Given the description of an element on the screen output the (x, y) to click on. 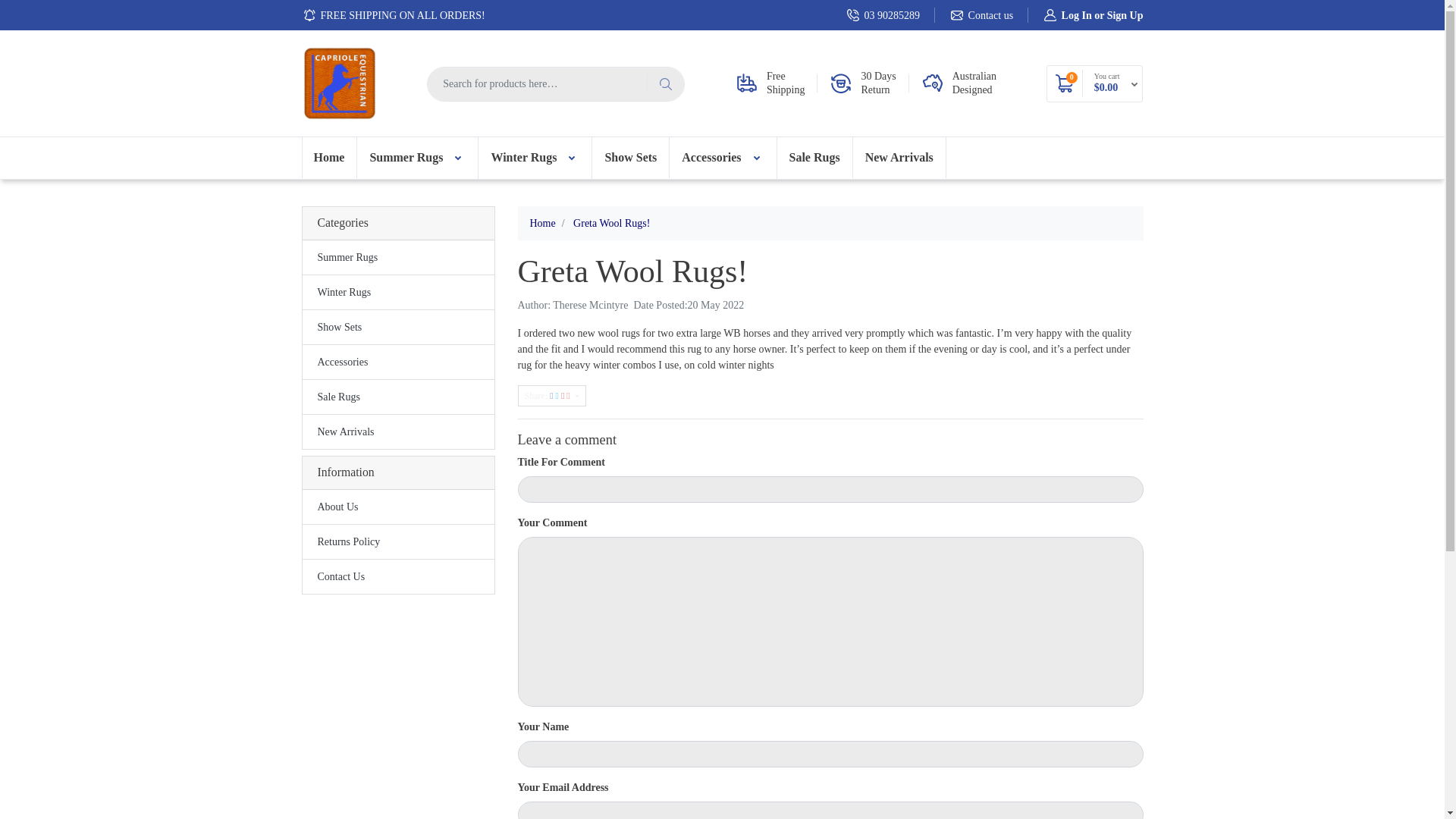
Log In (1076, 14)
Search (665, 83)
Sale Rugs (397, 397)
Summer Rugs (397, 257)
Winter Rugs (397, 292)
Contact us (981, 14)
Home (329, 157)
Show Sets (630, 157)
Sign Up (1124, 14)
Show Sets (397, 326)
New Arrivals (397, 431)
Summer Rugs (417, 158)
Accessories (722, 158)
03 90285289 (882, 14)
New Arrivals (899, 157)
